Given the description of an element on the screen output the (x, y) to click on. 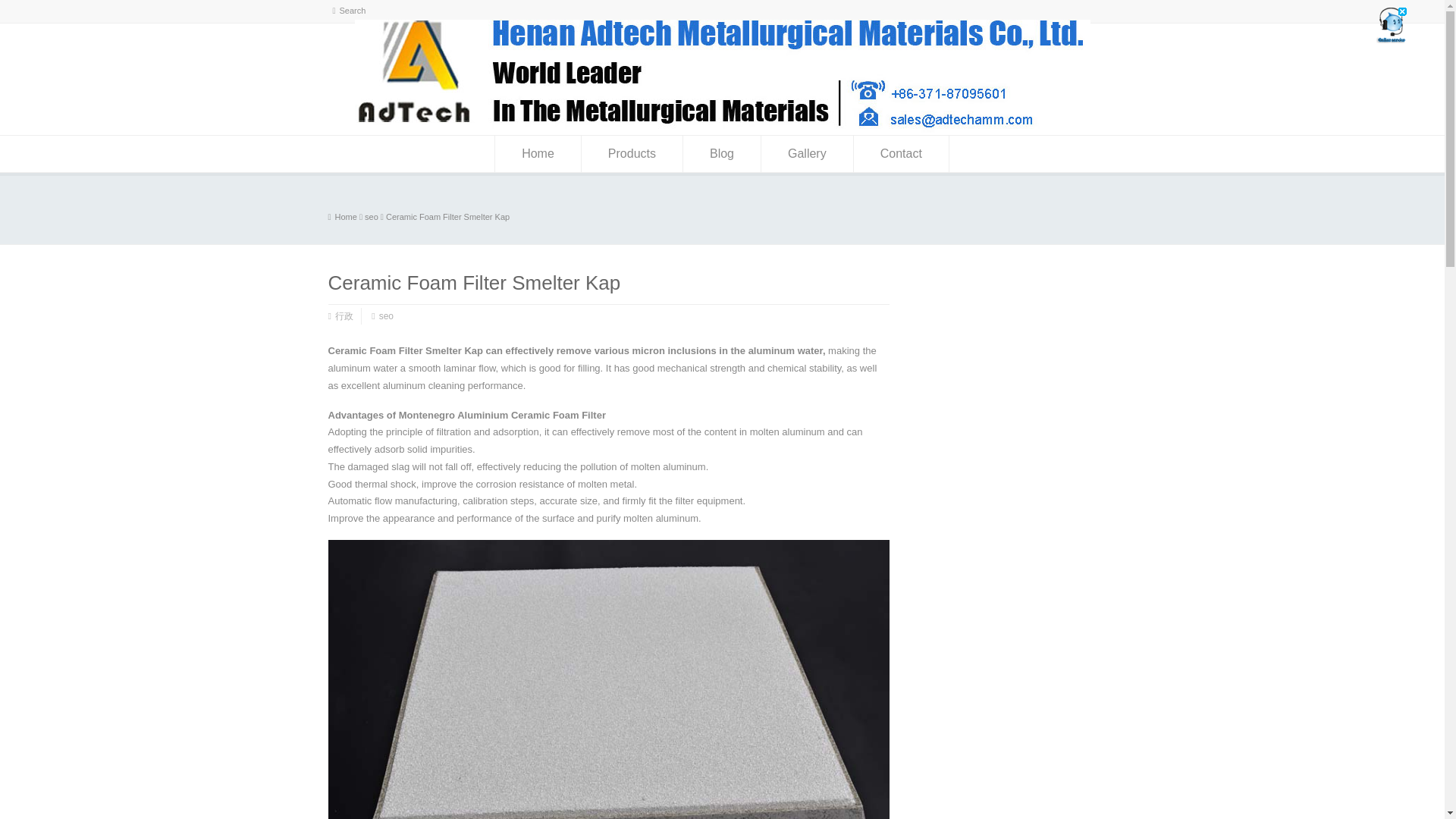
Aluminum casting filter (345, 216)
Ceramic Foam Filter Smelter Kap (447, 216)
Gallery (807, 153)
View all posts in seo (371, 216)
Home (537, 153)
Aluminum casting filter (722, 129)
seo (371, 216)
Contact (901, 153)
Products (631, 153)
Home (341, 216)
